Given the description of an element on the screen output the (x, y) to click on. 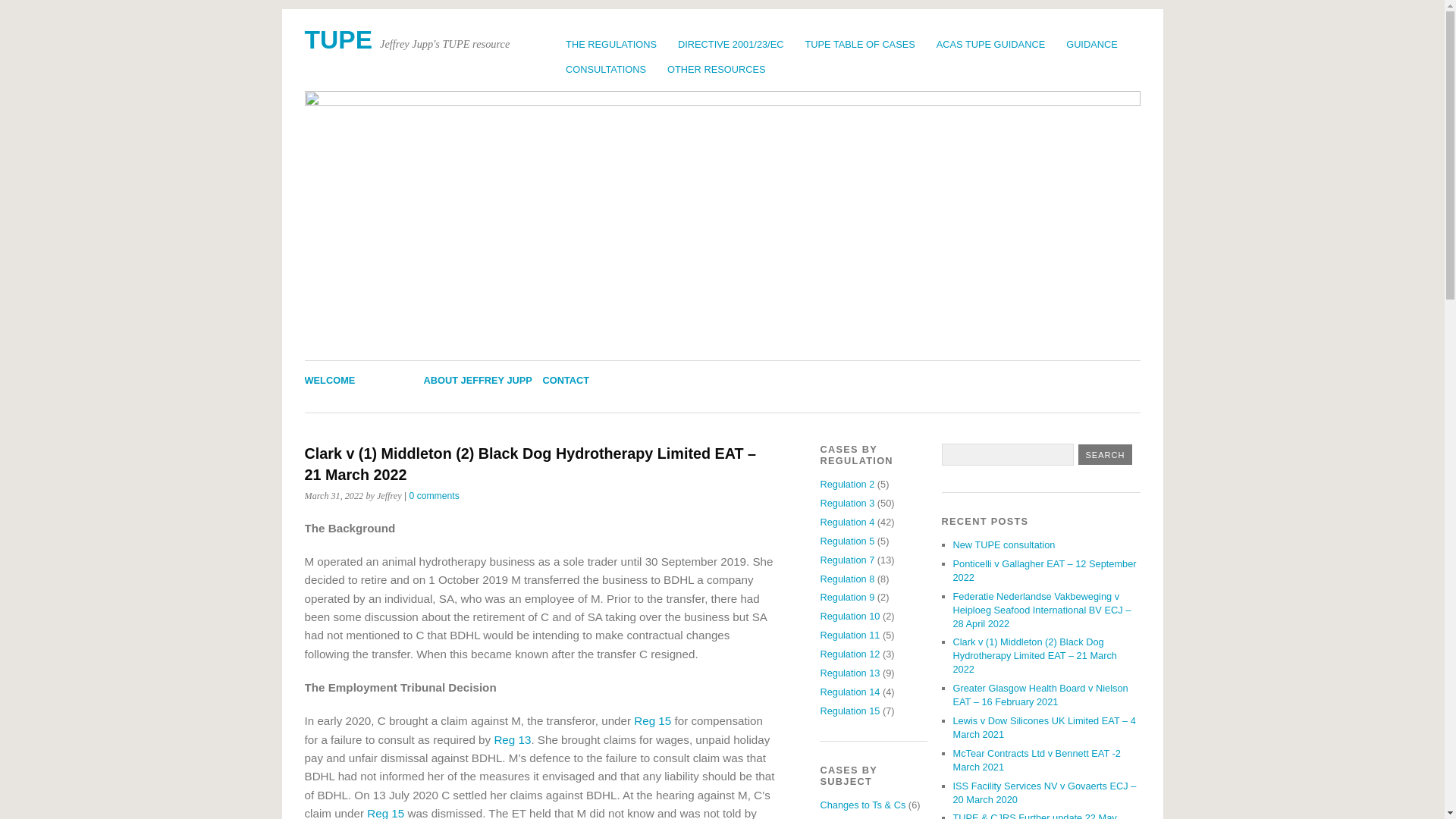
OTHER RESOURCES (716, 68)
WELCOME (329, 379)
Search (1105, 454)
THE REGULATIONS (610, 43)
Reg 15 (652, 720)
TUPE (338, 39)
Reg 15 (385, 812)
ACAS TUPE GUIDANCE (990, 43)
GUIDANCE (1091, 43)
0 comments (434, 495)
